Given the description of an element on the screen output the (x, y) to click on. 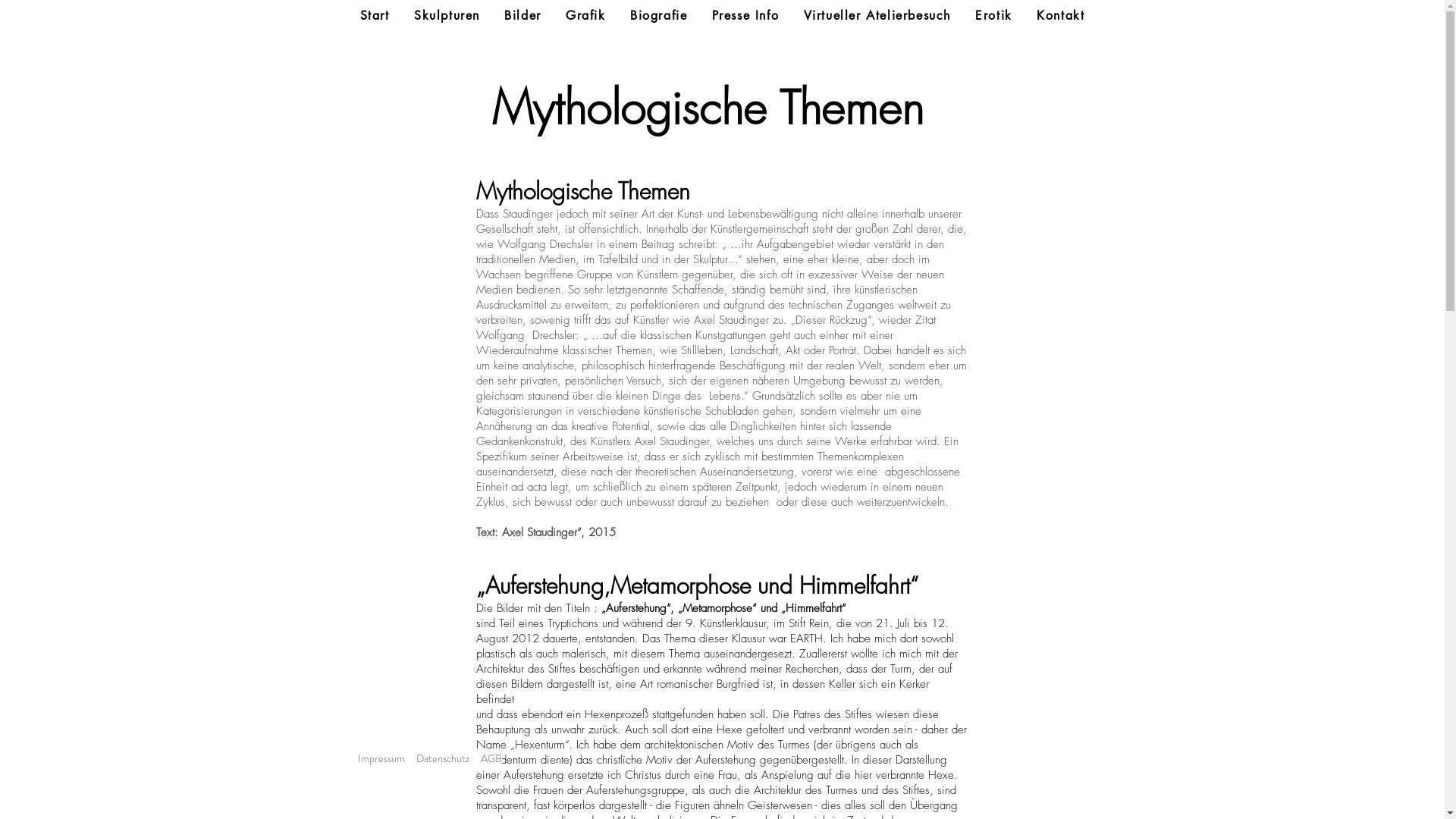
AGB Element type: text (491, 757)
Biografie Element type: text (658, 16)
Datenschutz Element type: text (441, 757)
Start Element type: text (374, 16)
Erotik Element type: text (993, 16)
Grafik Element type: text (585, 16)
Virtueller Atelierbesuch Element type: text (876, 16)
Kontakt Element type: text (1060, 16)
Impressum Element type: text (380, 757)
Bilder Element type: text (522, 16)
Presse Info Element type: text (745, 16)
Skulpturen Element type: text (446, 16)
